Given the description of an element on the screen output the (x, y) to click on. 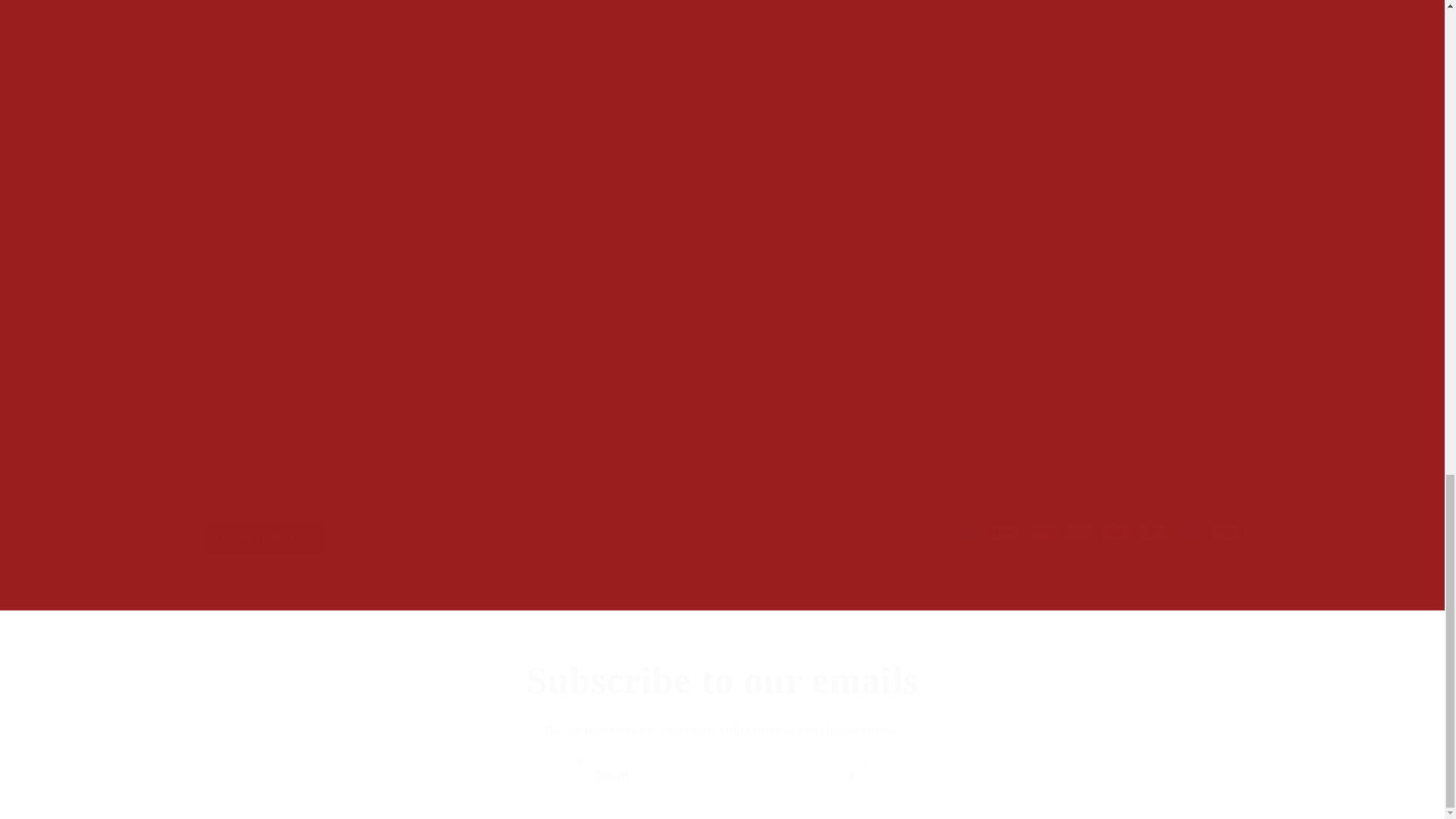
Subscribe to our emails (722, 680)
Email (722, 776)
